Given the description of an element on the screen output the (x, y) to click on. 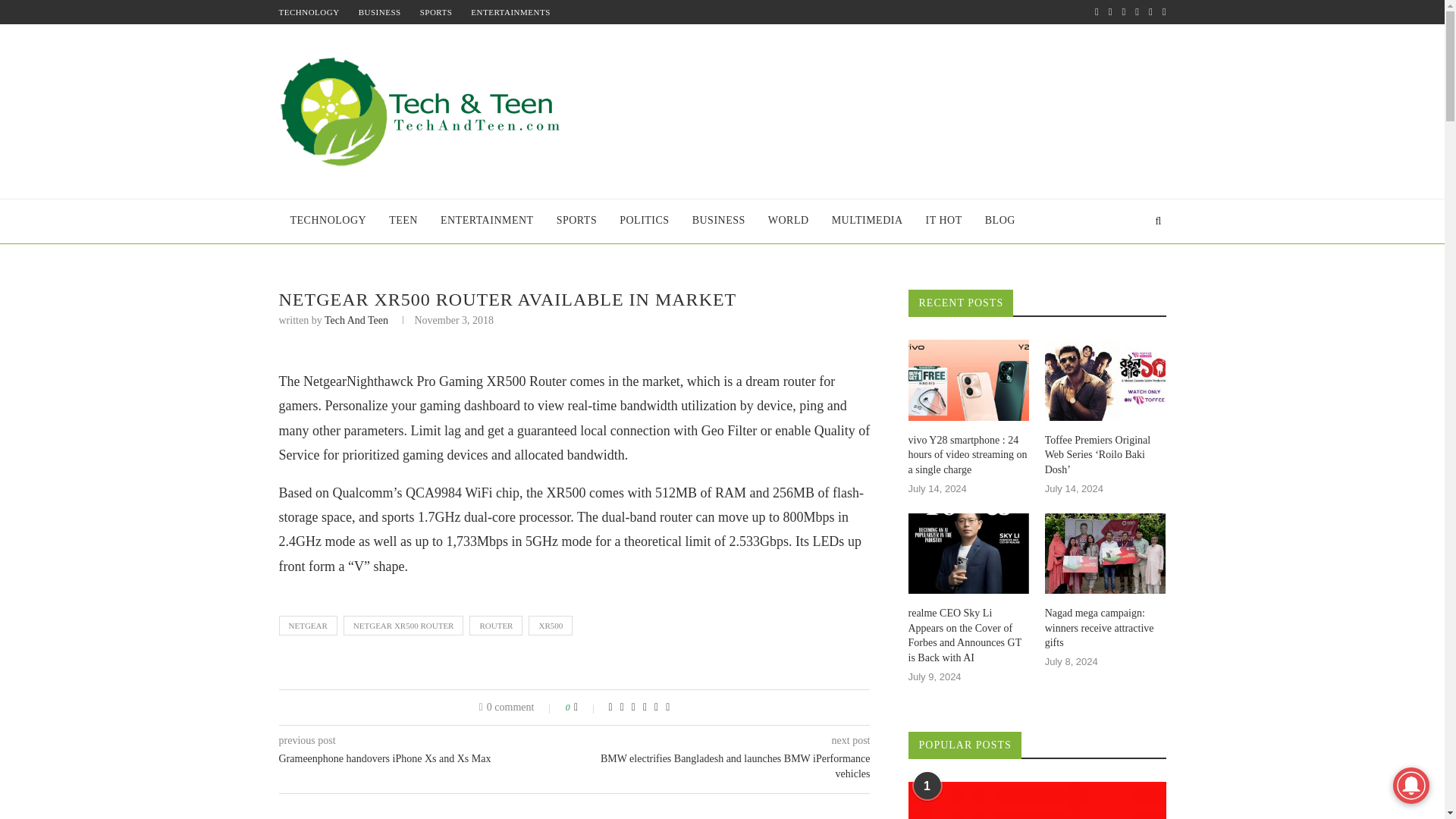
SPORTS (436, 11)
Tech And Teen (356, 319)
ENTERTAINMENTS (510, 11)
BUSINESS (719, 221)
ROUTER (495, 625)
TECHNOLOGY (309, 11)
NETGEAR (308, 625)
IT HOT (944, 221)
BUSINESS (379, 11)
NETGEAR XR500 ROUTER (403, 625)
POLITICS (643, 221)
MULTIMEDIA (867, 221)
SPORTS (576, 221)
TEEN (403, 221)
BLOG (1000, 221)
